Given the description of an element on the screen output the (x, y) to click on. 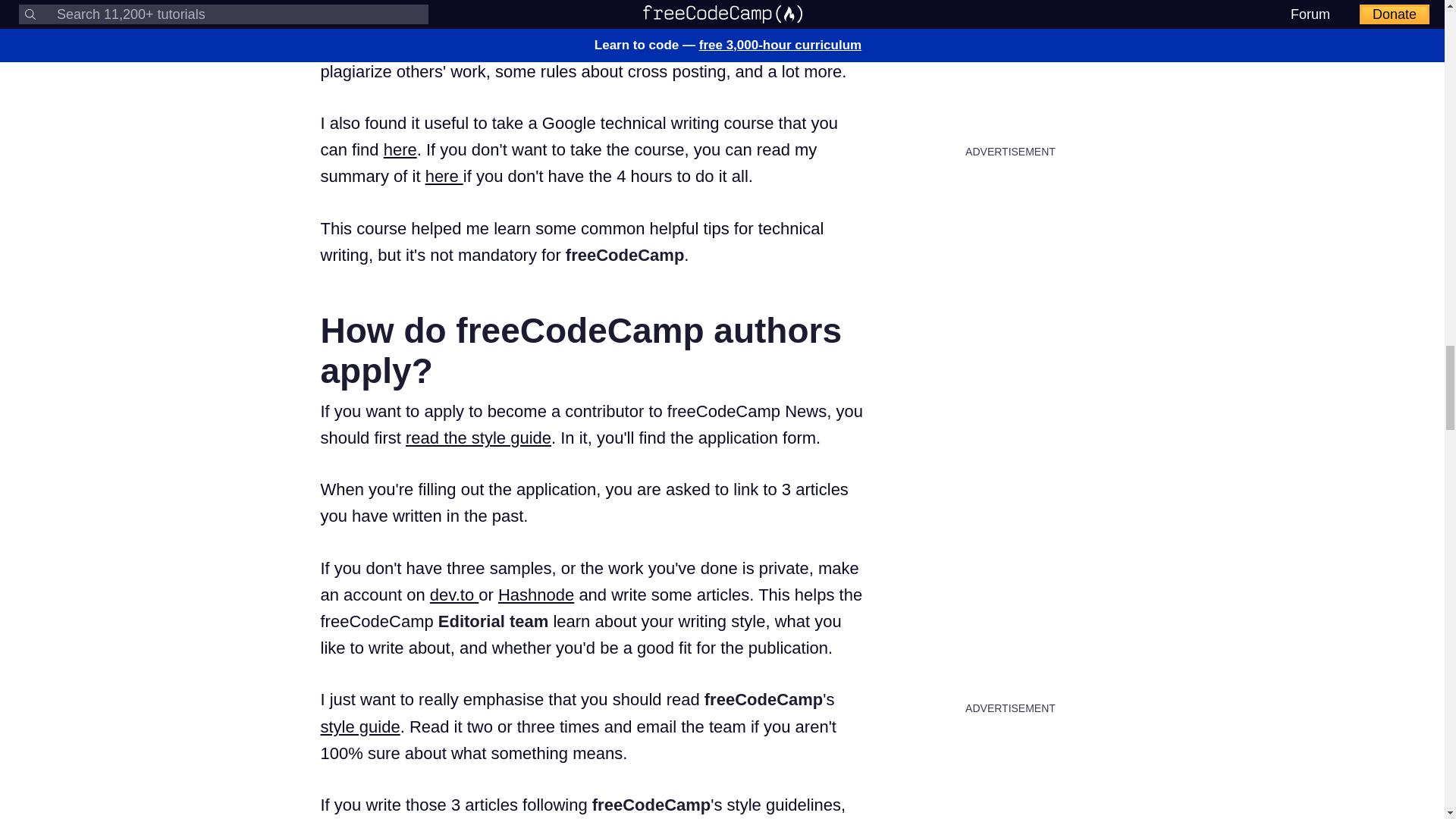
style guide (359, 726)
dev.to (454, 594)
here (444, 176)
Hashnode (535, 594)
here (400, 149)
read the style guide (478, 437)
